Given the description of an element on the screen output the (x, y) to click on. 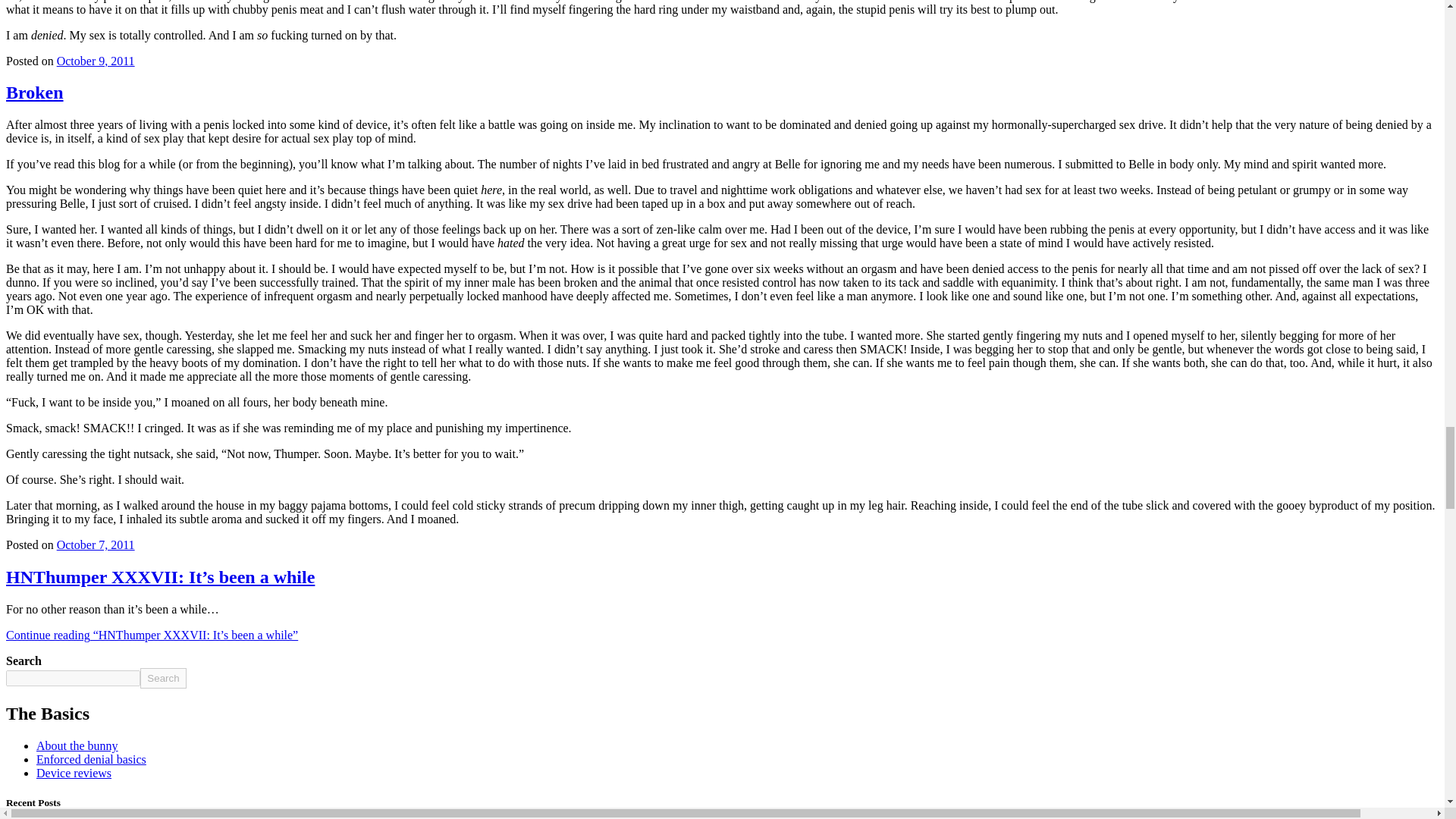
About the bunny (76, 745)
Device reviews (74, 772)
Enforced denial basics (91, 758)
Search (162, 678)
October 9, 2011 (95, 60)
October 7, 2011 (95, 544)
Broken (34, 92)
